Given the description of an element on the screen output the (x, y) to click on. 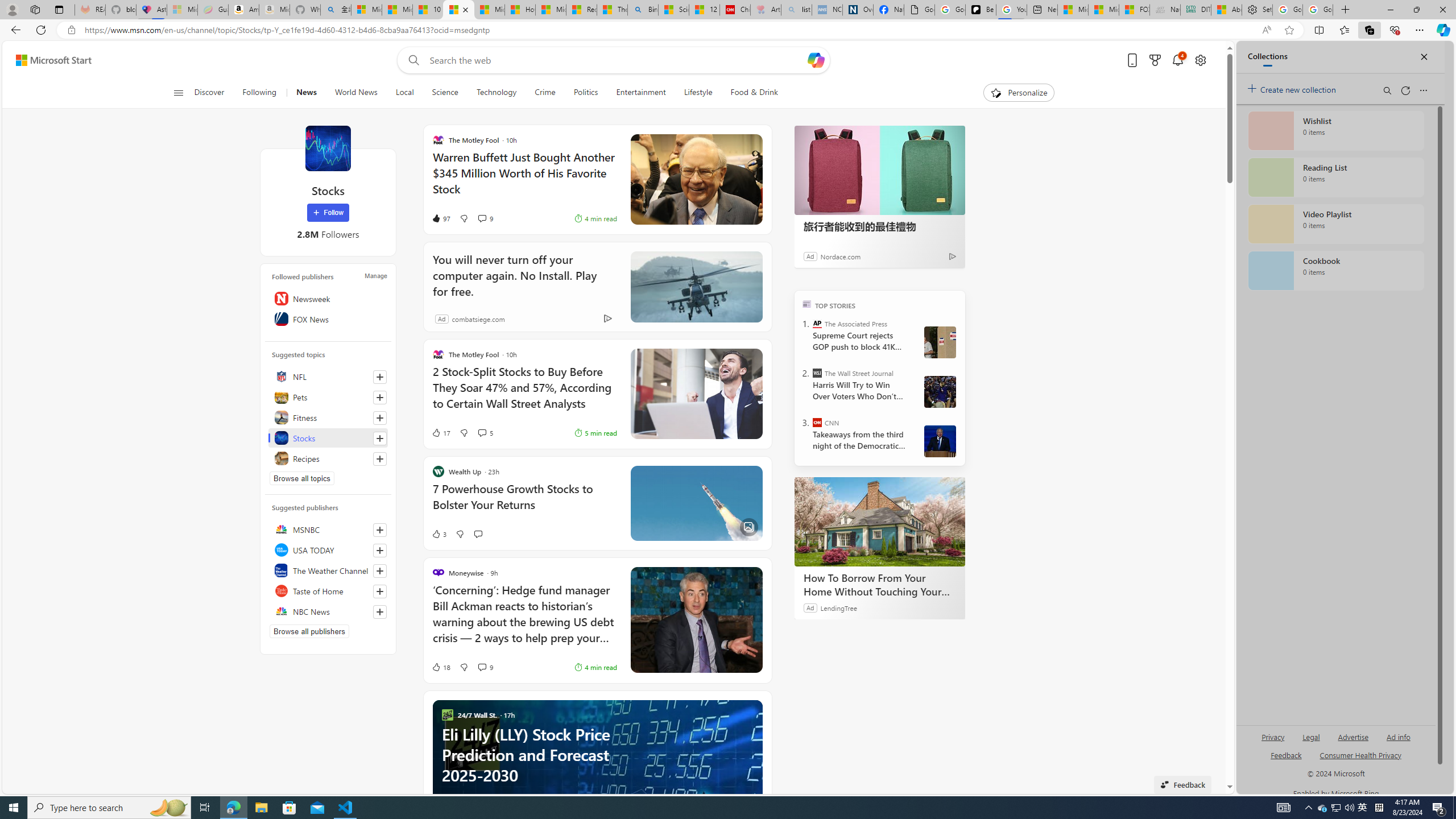
Start the conversation (477, 533)
How I Got Rid of Microsoft Edge's Unnecessary Features (519, 9)
View comments 5 Comment (485, 432)
Be Smart | creating Science videos | Patreon (980, 9)
Personalize (1019, 92)
Recipes - MSN (581, 9)
AutomationID: sb_feedback (1286, 754)
LendingTree (838, 607)
